Given the description of an element on the screen output the (x, y) to click on. 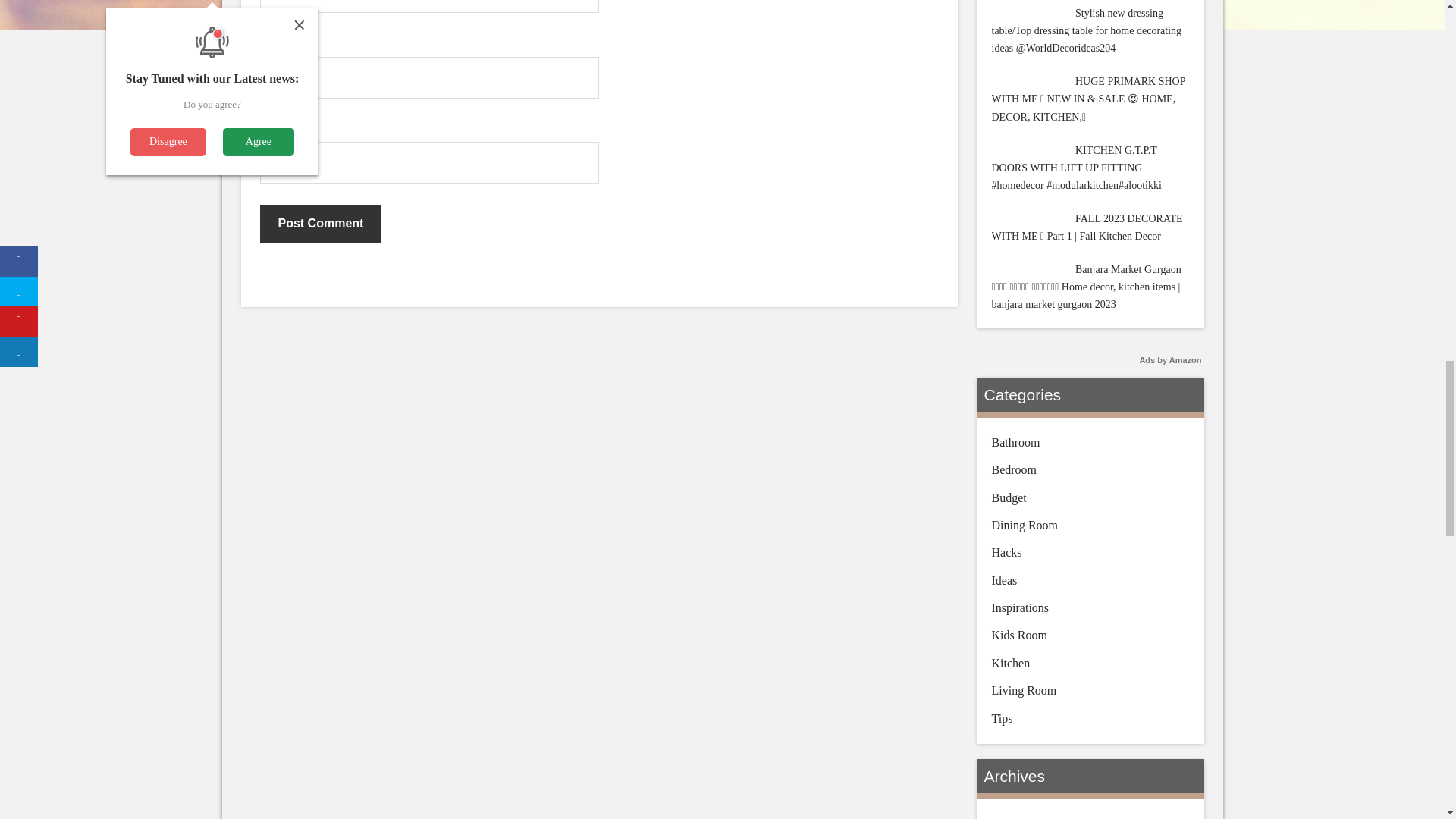
Post Comment (320, 223)
